Given the description of an element on the screen output the (x, y) to click on. 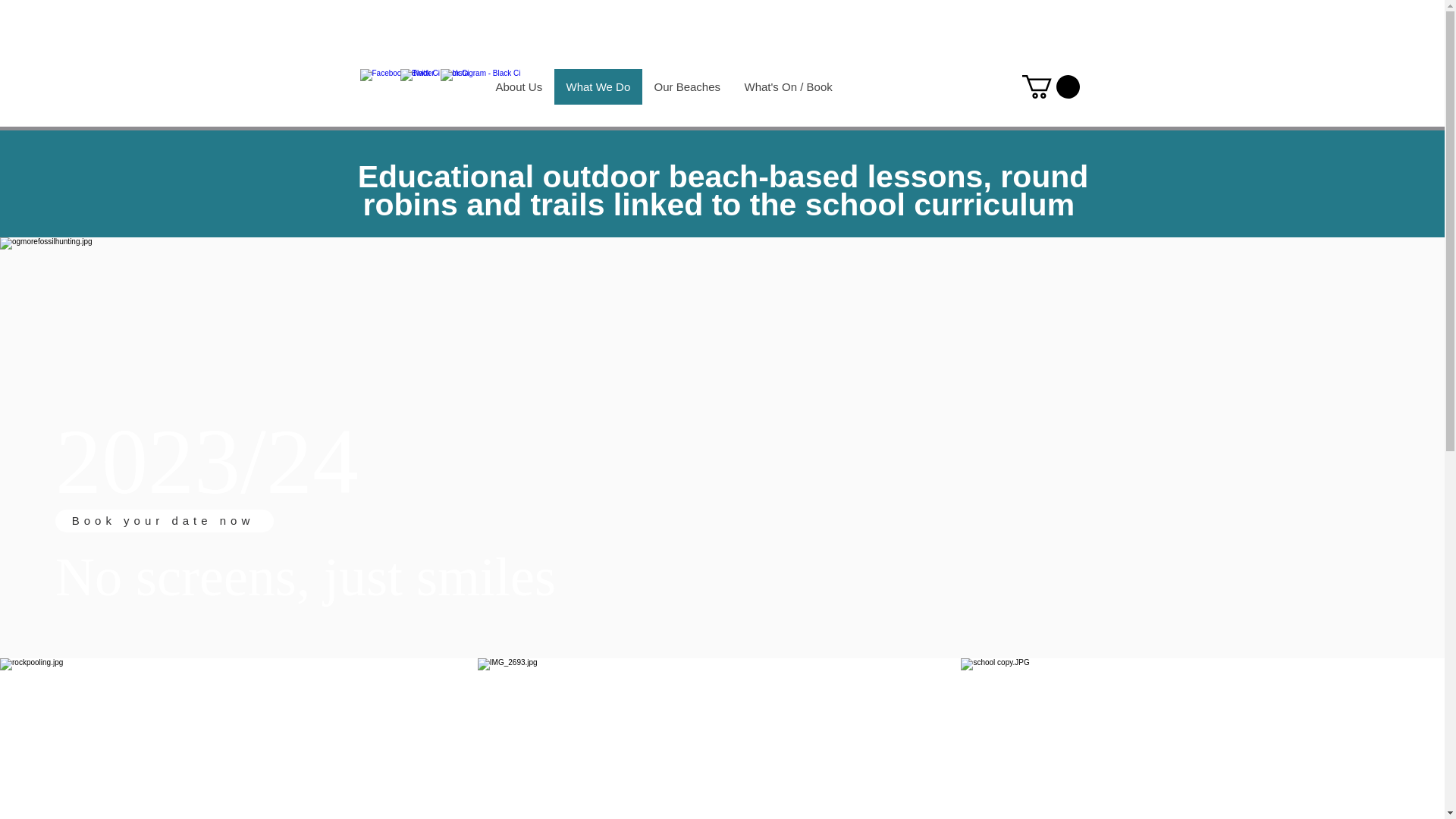
About Us (518, 86)
Book your date now (164, 520)
What We Do (597, 86)
Our Beaches (687, 86)
